Given the description of an element on the screen output the (x, y) to click on. 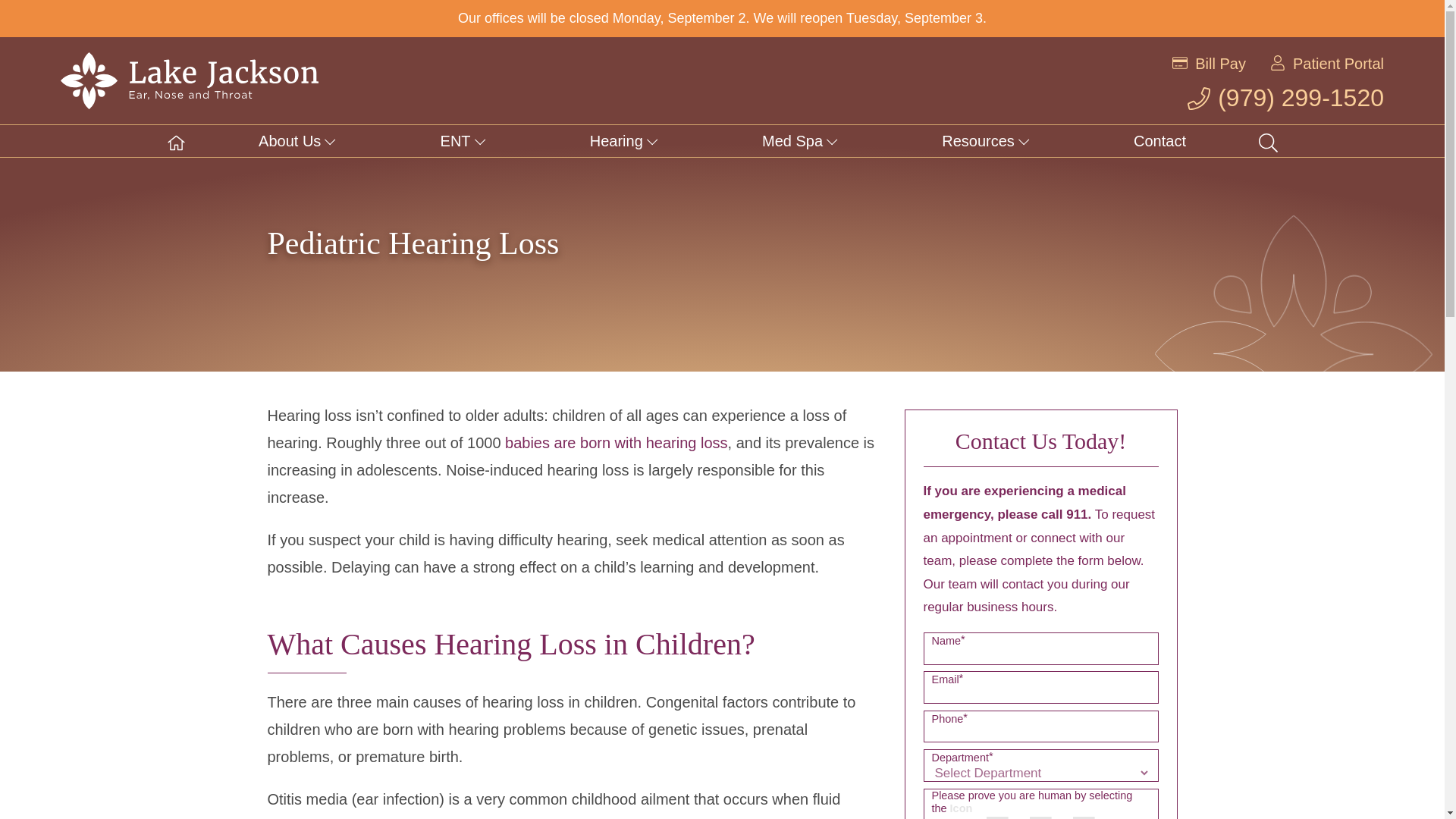
Patient Portal (1338, 63)
Bill Pay (1220, 63)
About Us (296, 141)
ENT (462, 141)
